Given the description of an element on the screen output the (x, y) to click on. 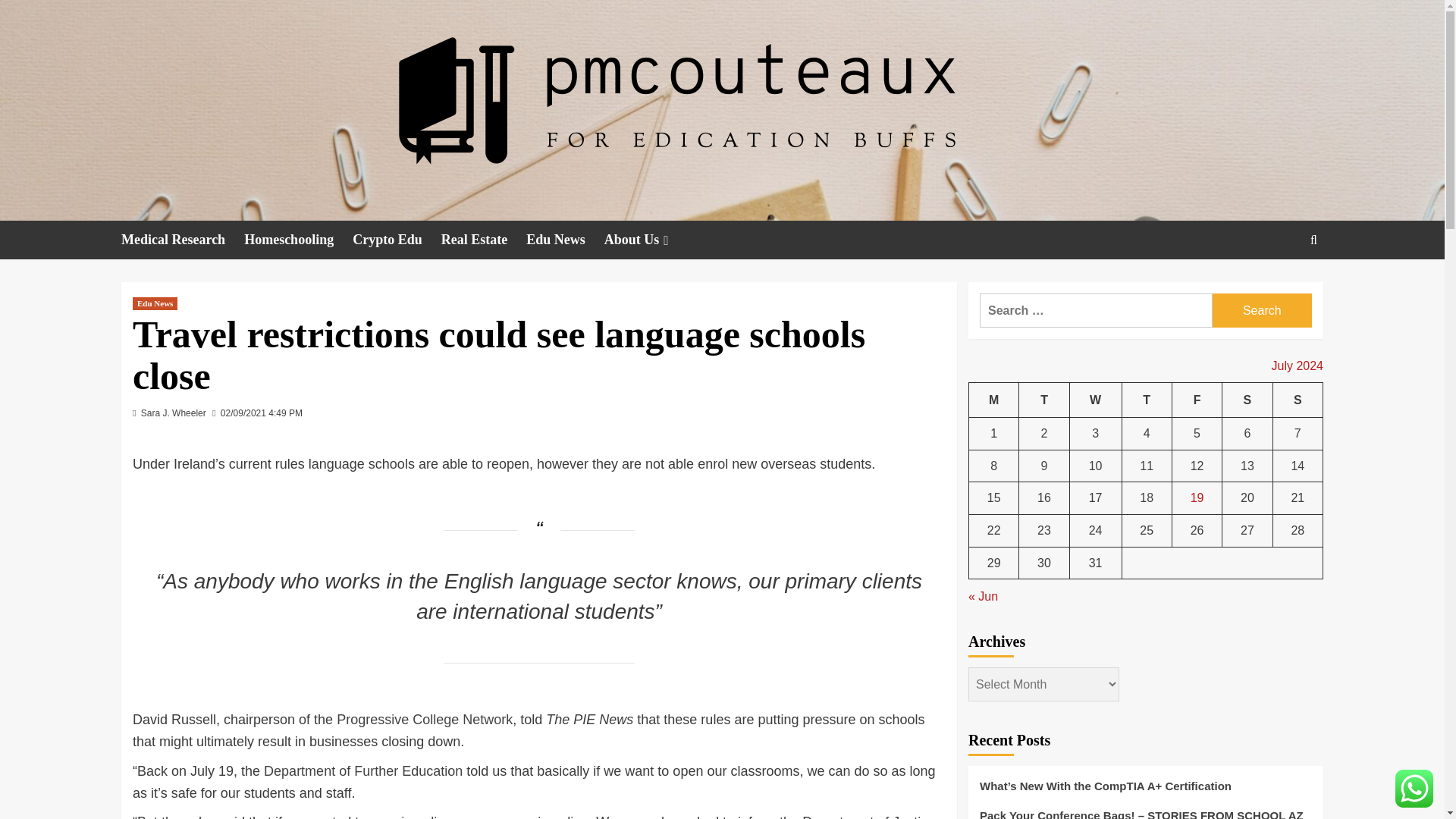
About Us (648, 239)
Search (1261, 310)
Saturday (1247, 399)
Sunday (1297, 399)
Monday (994, 399)
Edu News (564, 239)
Tuesday (1043, 399)
Progressive College Network (424, 719)
Wednesday (1094, 399)
Search (1278, 286)
Edu News (154, 303)
Real Estate (483, 239)
Homeschooling (298, 239)
Search (1261, 310)
Crypto Edu (396, 239)
